Given the description of an element on the screen output the (x, y) to click on. 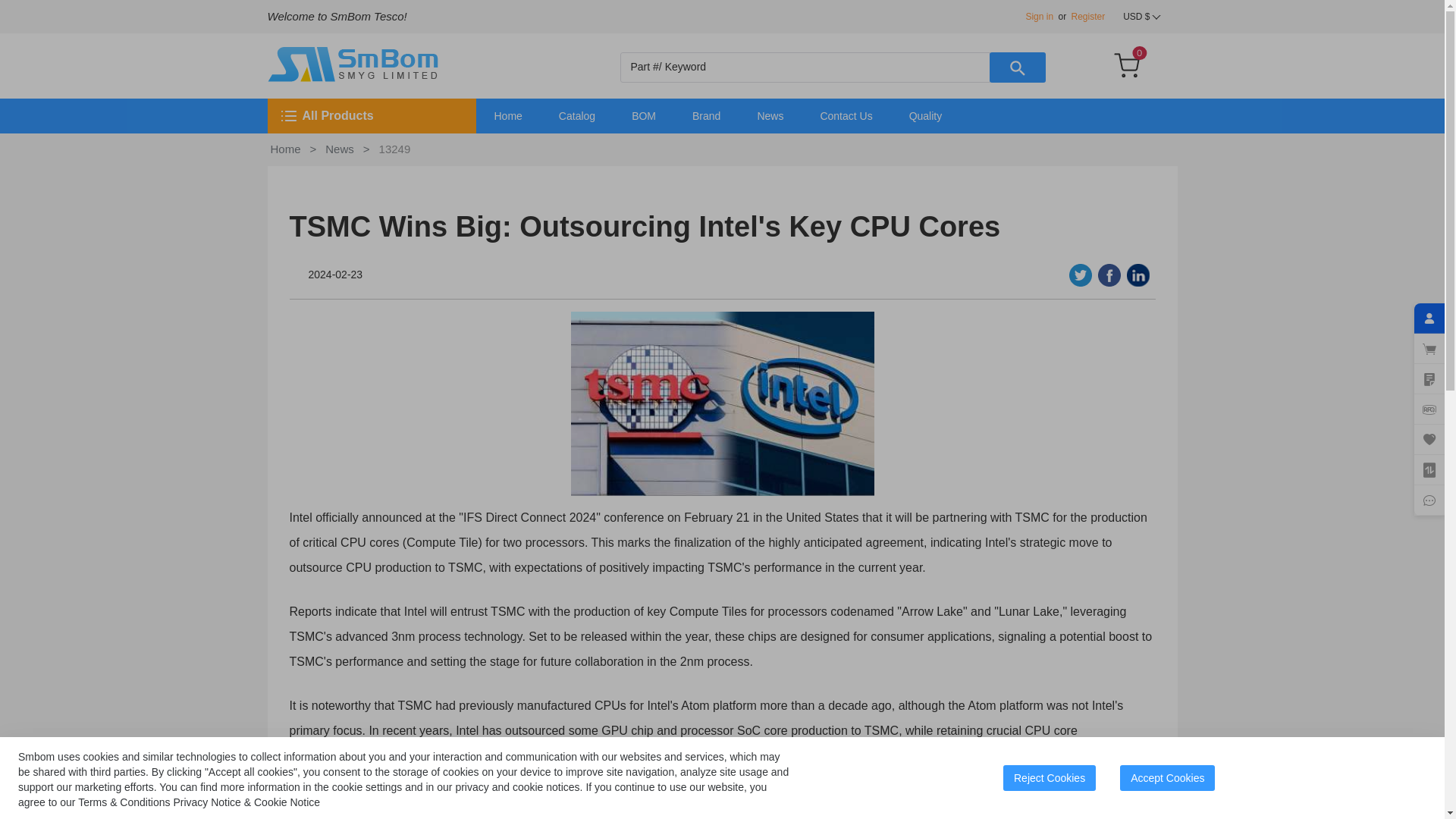
Brand (706, 115)
twitter smbom.com (1080, 274)
Catalog smbom.com (576, 115)
News (770, 115)
Quality smbom.com (925, 115)
Quality (925, 115)
News smbom.com (770, 115)
Catalog (576, 115)
Brand smbom.com (706, 115)
facebook smbom.com (1109, 274)
